Given the description of an element on the screen output the (x, y) to click on. 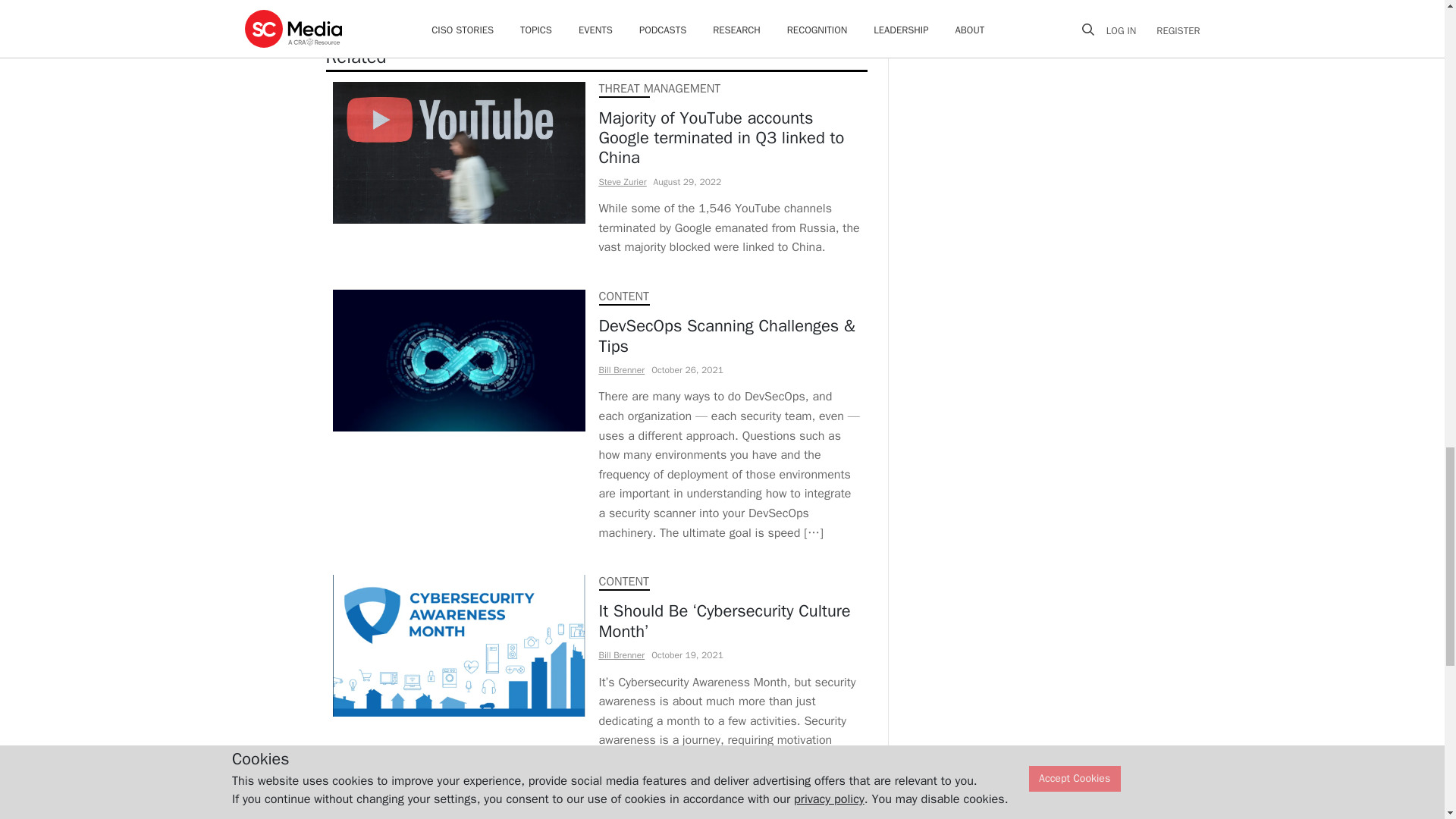
Steve Zurier (622, 182)
CONTENT (623, 296)
Bill Brenner (621, 654)
CONTENT (623, 581)
THREAT MANAGEMENT (659, 88)
Bill Brenner (621, 369)
